Given the description of an element on the screen output the (x, y) to click on. 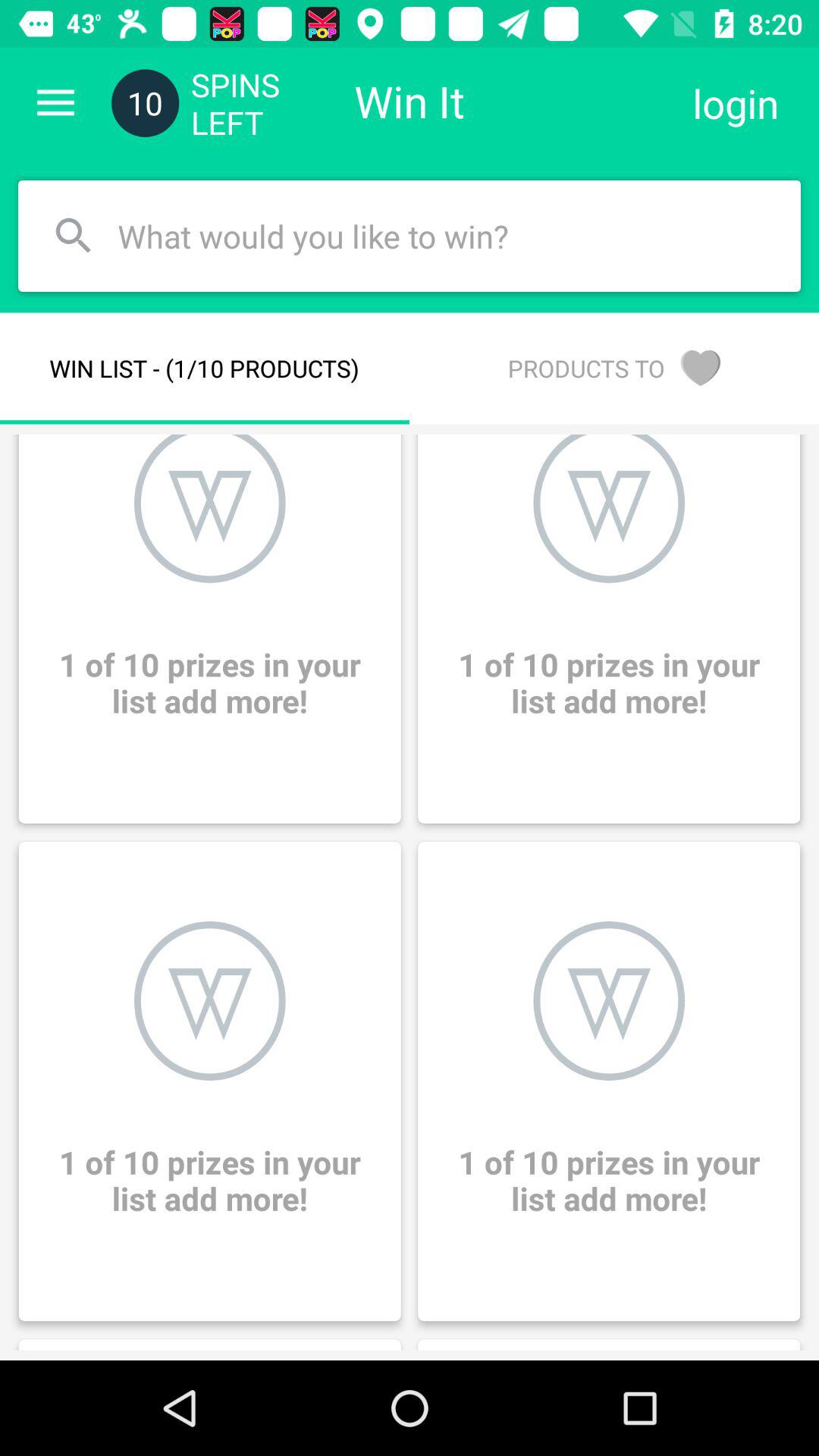
press item next to 10 item (55, 103)
